Given the description of an element on the screen output the (x, y) to click on. 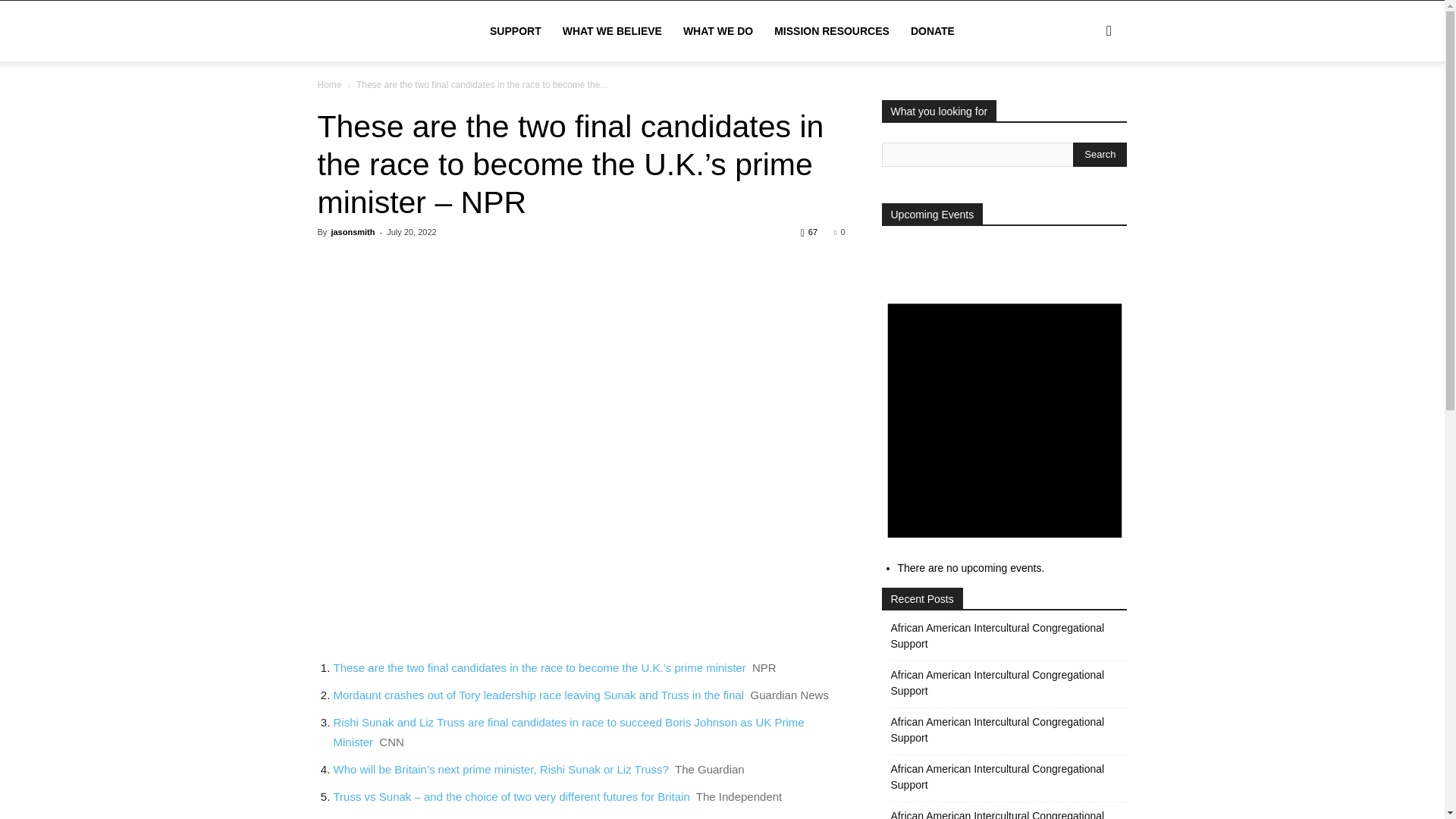
WHAT WE BELIEVE (611, 30)
jasonsmith (352, 231)
DONATE (932, 30)
Search (1085, 103)
0 (839, 231)
Search (1099, 154)
MISSION RESOURCES (830, 30)
WHAT WE DO (717, 30)
SUPPORT (515, 30)
